Given the description of an element on the screen output the (x, y) to click on. 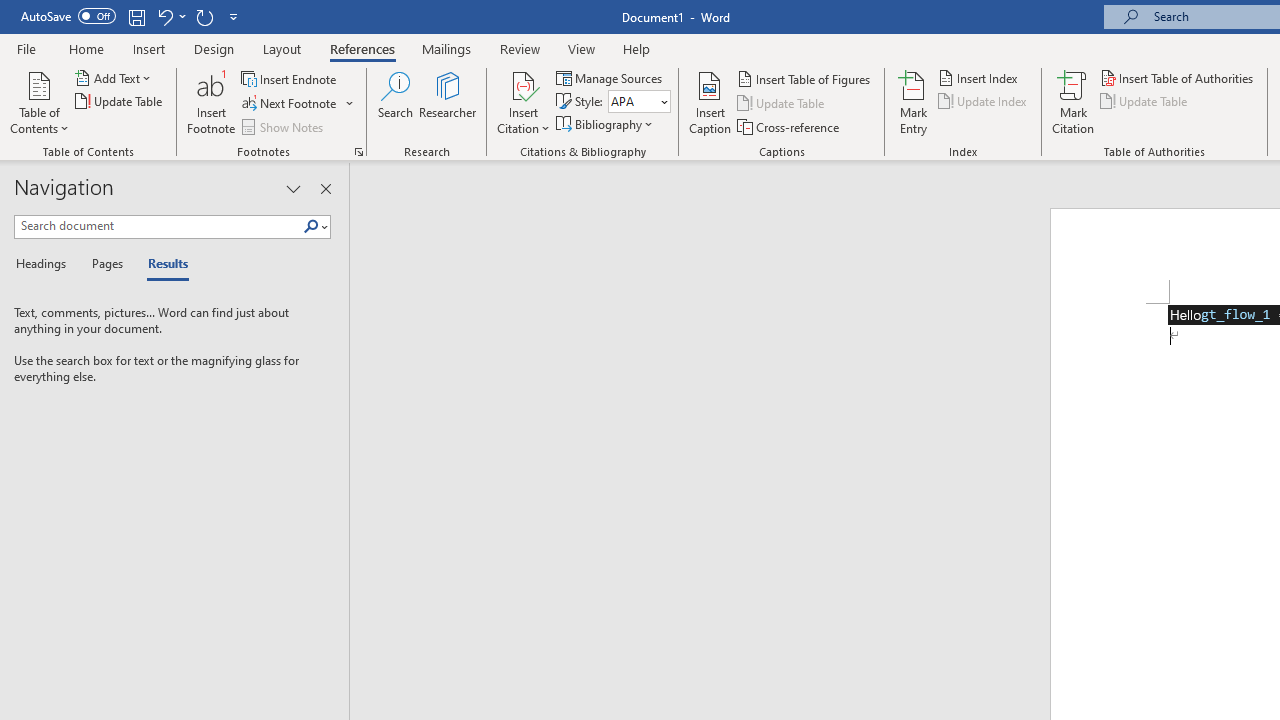
Bibliography (606, 124)
Insert Caption... (710, 102)
Next Footnote (298, 103)
Cross-reference... (789, 126)
Mark Entry... (913, 102)
Task Pane Options (293, 188)
Insert Endnote (290, 78)
Class: NetUIImage (311, 226)
Close pane (325, 188)
Headings (45, 264)
Undo Underline Style (170, 15)
Search document (157, 226)
Researcher (447, 102)
Review (520, 48)
